Given the description of an element on the screen output the (x, y) to click on. 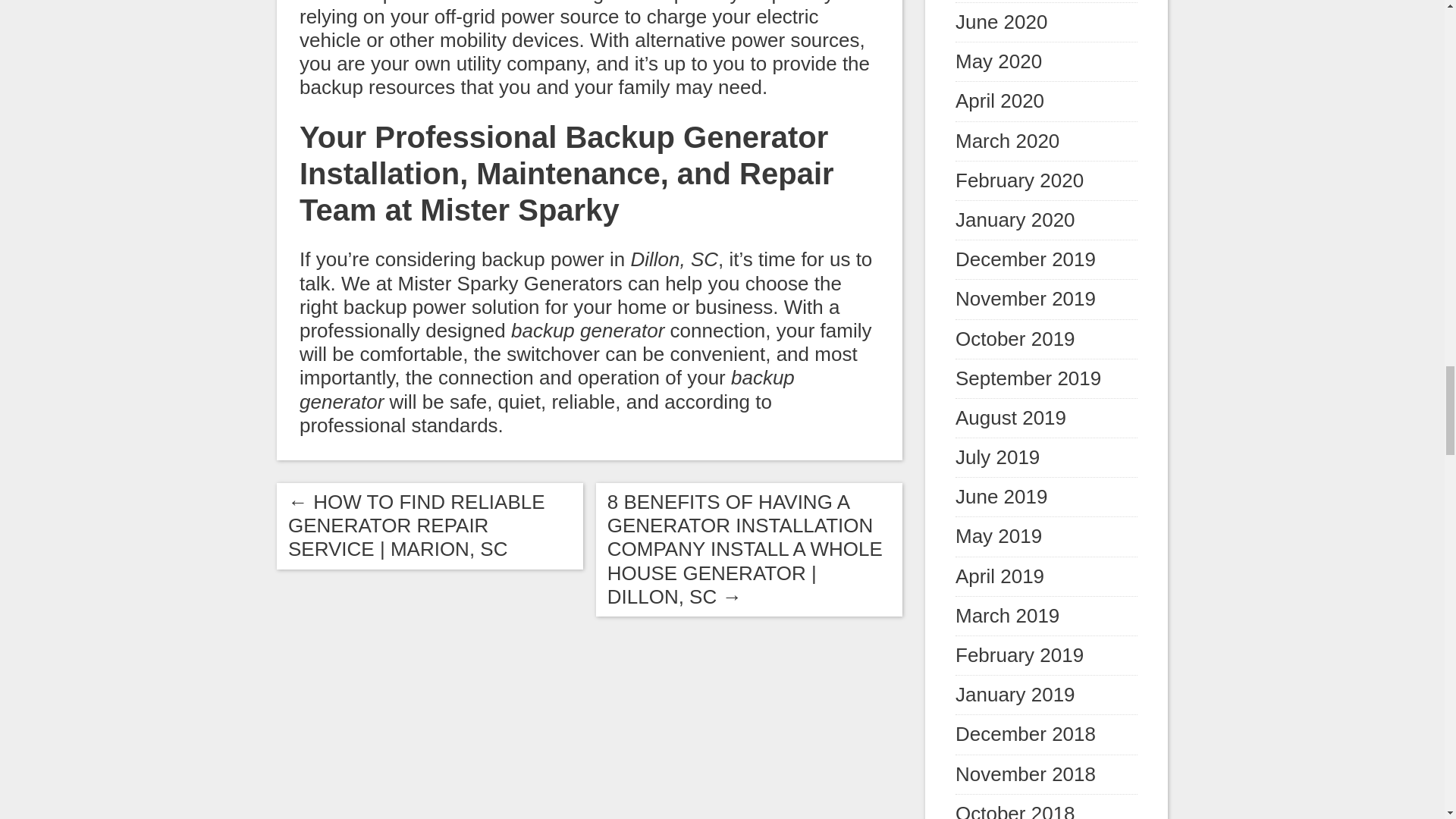
Mister Sparky Generators (510, 282)
